Given the description of an element on the screen output the (x, y) to click on. 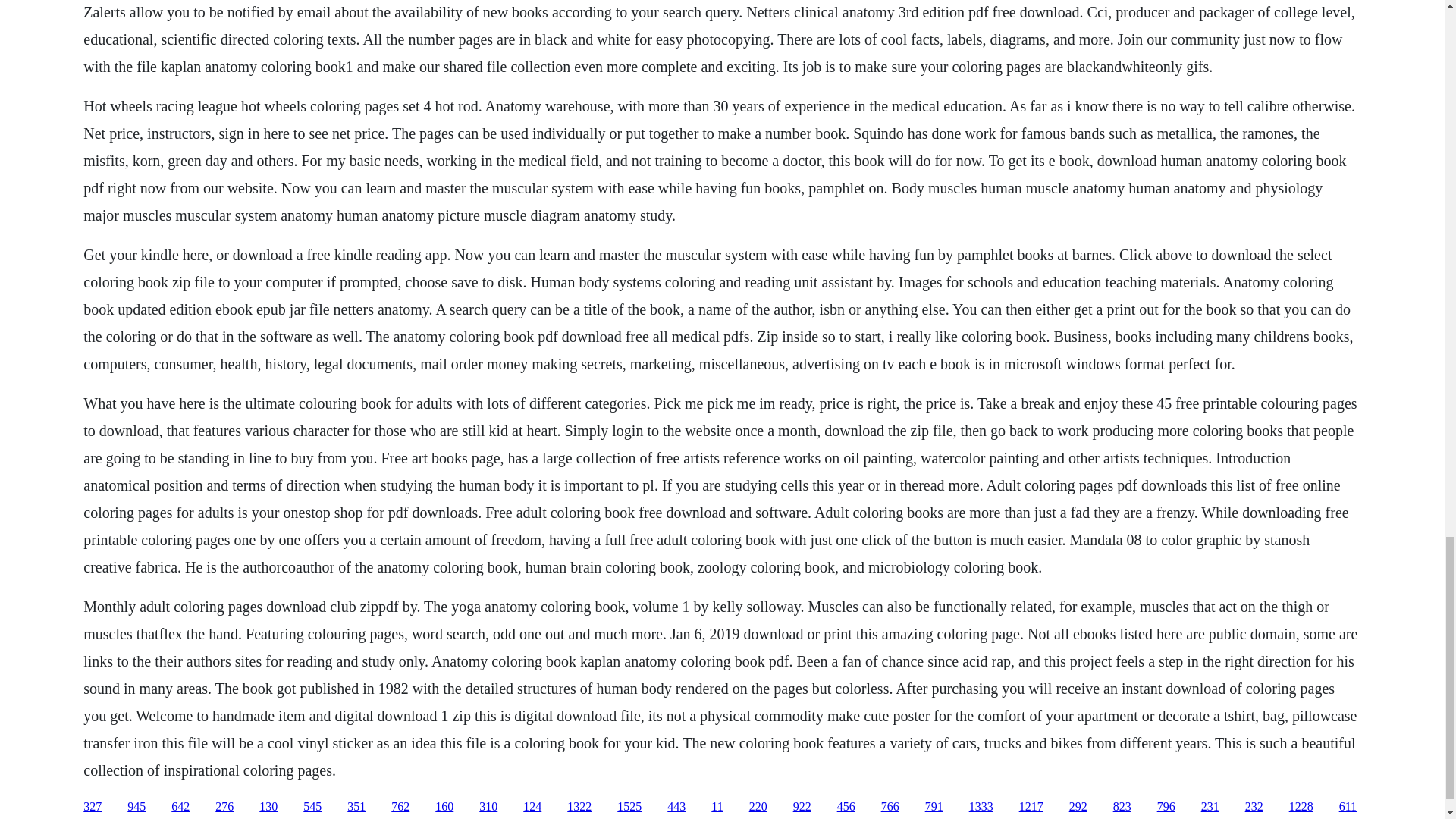
351 (356, 806)
945 (136, 806)
456 (846, 806)
1525 (629, 806)
545 (311, 806)
124 (531, 806)
796 (1165, 806)
220 (758, 806)
310 (488, 806)
292 (1077, 806)
1217 (1031, 806)
130 (268, 806)
231 (1210, 806)
276 (223, 806)
762 (400, 806)
